Given the description of an element on the screen output the (x, y) to click on. 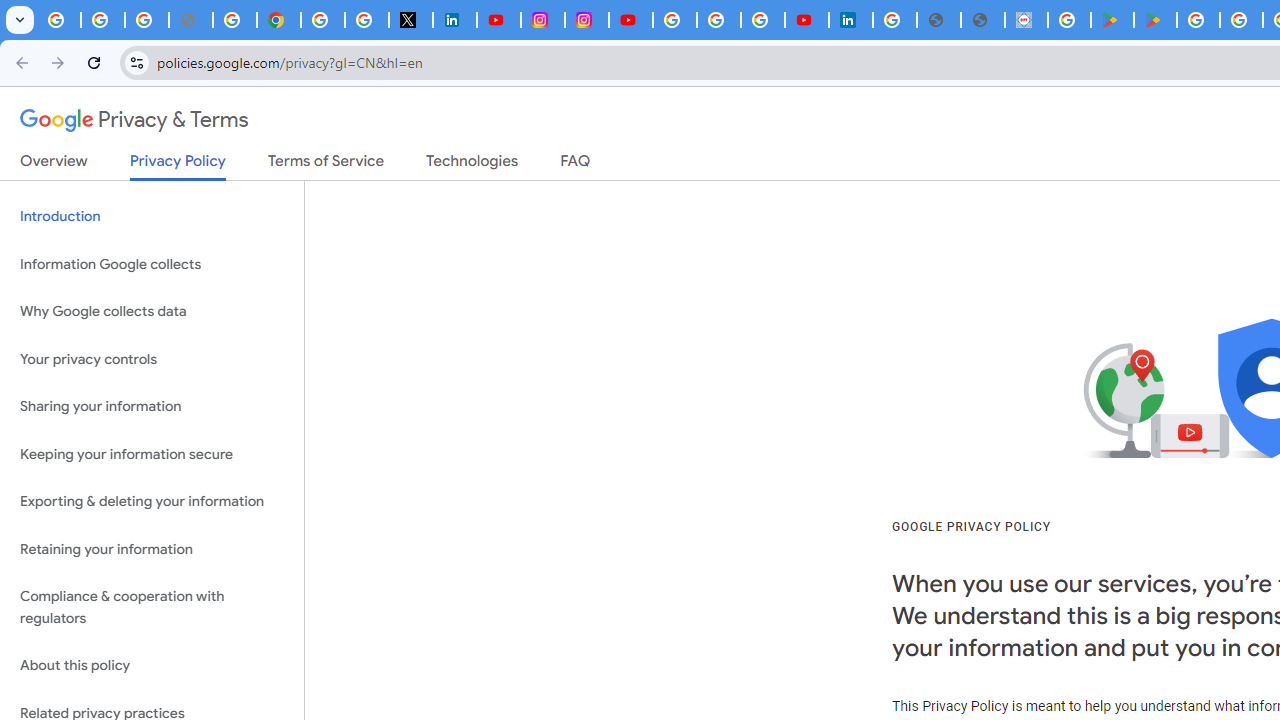
Identity verification via Persona | LinkedIn Help (850, 20)
Overview (54, 165)
Data Privacy Framework (1026, 20)
Why Google collects data (152, 312)
Information Google collects (152, 263)
Search tabs (20, 20)
X (410, 20)
Introduction (152, 216)
support.google.com - Network error (190, 20)
Technologies (472, 165)
Reload (93, 62)
